Given the description of an element on the screen output the (x, y) to click on. 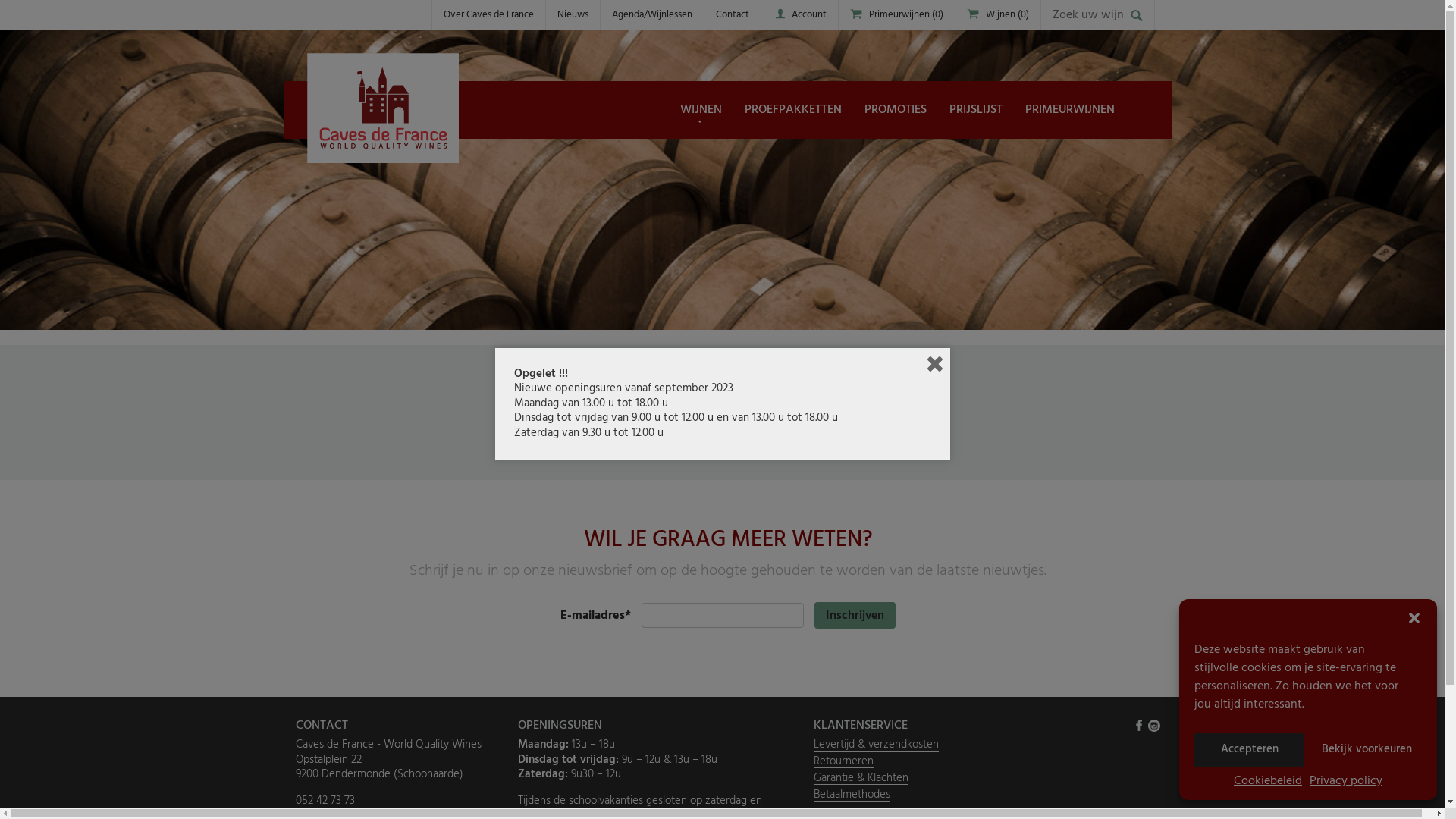
Contact Element type: text (731, 15)
PRIMEURWIJNEN Element type: text (1069, 109)
Agenda/Wijnlessen Element type: text (651, 15)
Bezoek Caves de France op Instagram Element type: hover (1154, 726)
cavesdefrance.be Element type: text (880, 414)
WIJNEN Element type: text (700, 109)
Betaalmethodes Element type: text (850, 794)
Cookiebeleid Element type: text (1267, 780)
Garantie & Klachten Element type: text (859, 778)
Levertijd & verzendkosten Element type: text (875, 744)
Wijnen (0) Element type: text (1006, 15)
Nieuws Element type: text (572, 15)
PRIJSLIJST Element type: text (975, 109)
Retourneren Element type: text (842, 761)
Account Element type: text (808, 15)
PROEFPAKKETTEN Element type: text (792, 109)
Inschrijven Element type: text (854, 615)
Privacy policy Element type: text (1345, 780)
PROMOTIES Element type: text (895, 109)
Primeurwijnen (0) Element type: text (904, 15)
Over Caves de France Element type: text (488, 15)
Accepteren Element type: text (1249, 749)
Bekijk voorkeuren Element type: text (1366, 749)
Bezoek Caves de France op Facebook Element type: hover (1138, 726)
